Given the description of an element on the screen output the (x, y) to click on. 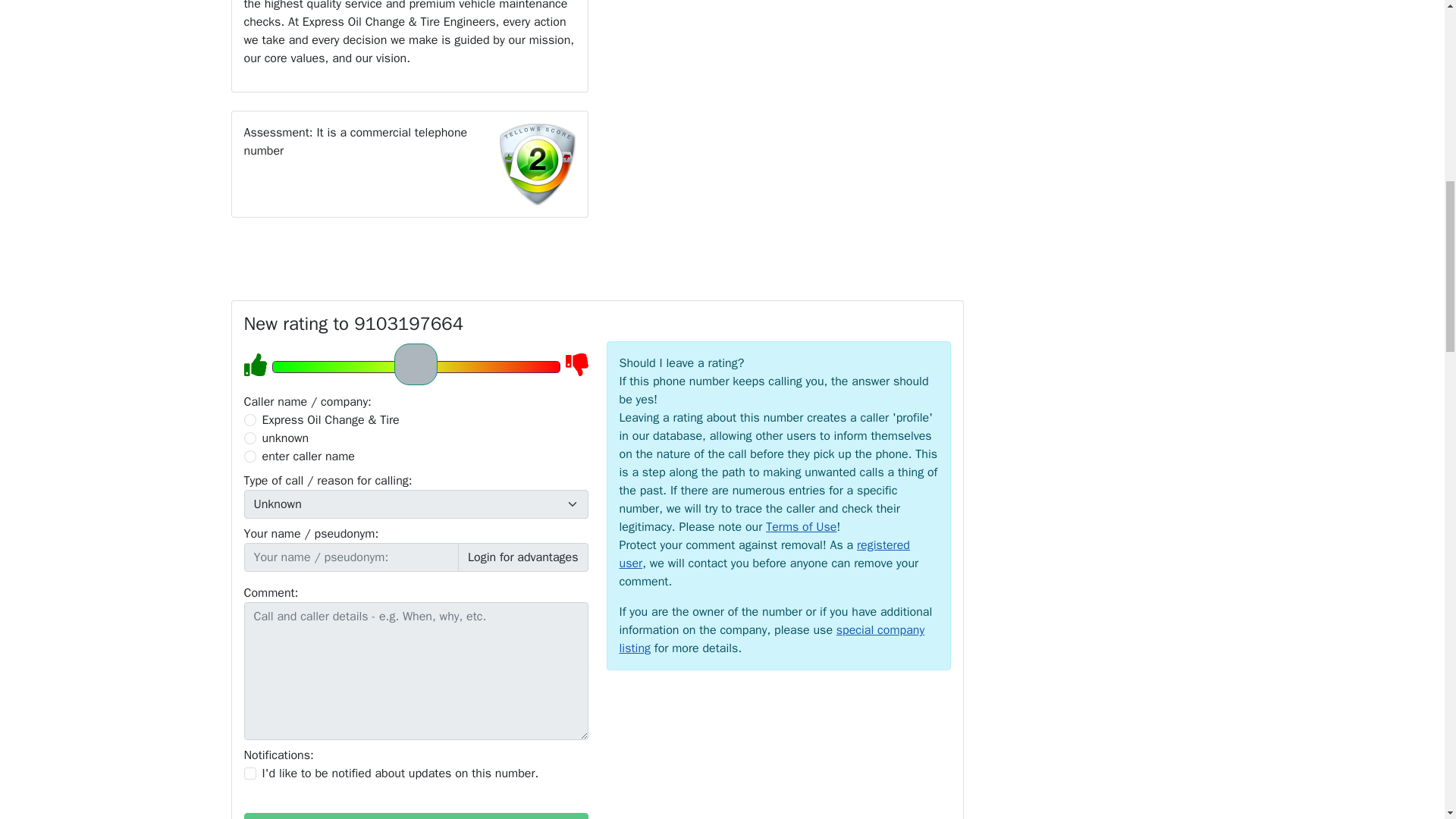
5 (414, 366)
3 (250, 456)
Terms of Use (800, 526)
Login for advantages (523, 556)
1 (250, 773)
Submit rating (416, 816)
2 (250, 438)
registered user (763, 553)
Submit rating (416, 816)
0 (250, 419)
special company listing (771, 639)
